Given the description of an element on the screen output the (x, y) to click on. 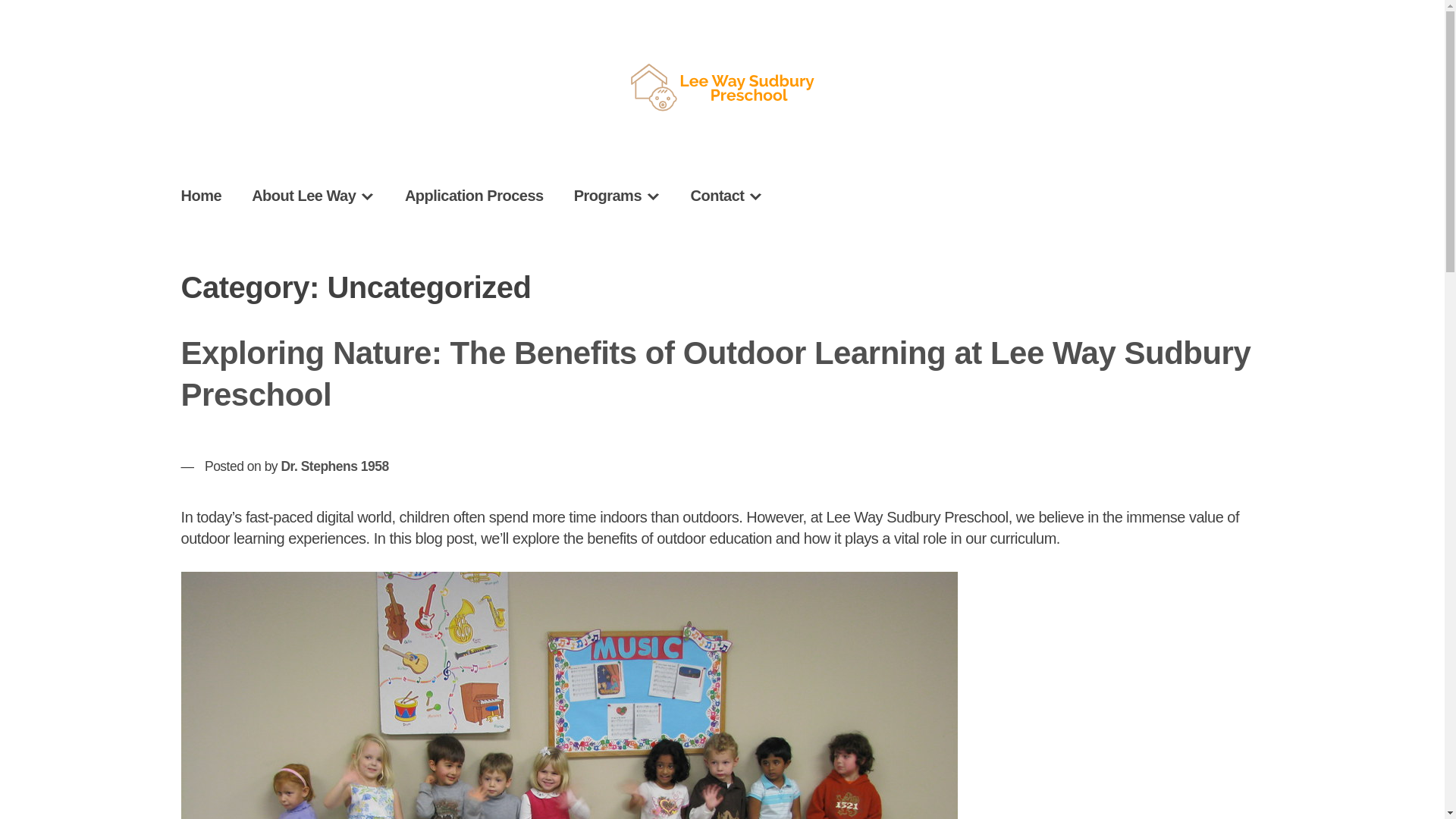
Lee Way Sudbury Preschool (1130, 111)
Programs (617, 196)
Application Process (474, 195)
Home (201, 195)
Contact (726, 196)
Dr. Stephens 1958 (334, 466)
About Lee Way (312, 196)
